Given the description of an element on the screen output the (x, y) to click on. 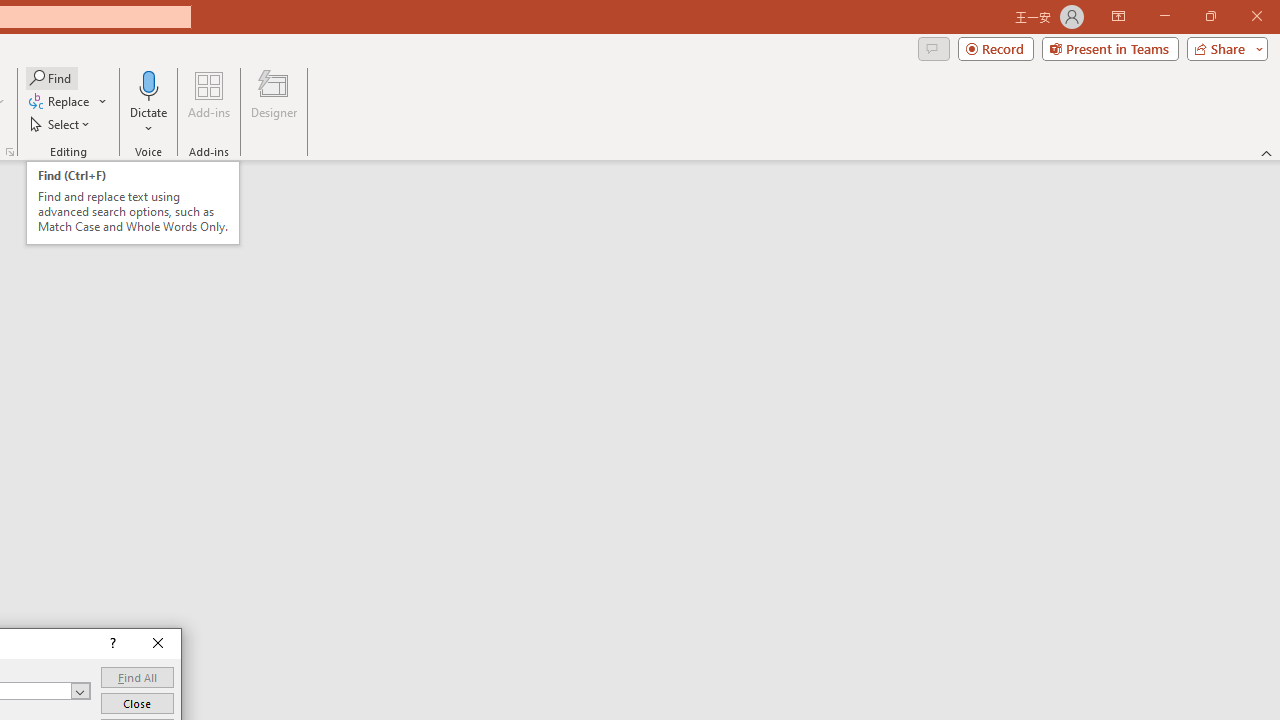
Find All (137, 677)
Context help (111, 643)
